Given the description of an element on the screen output the (x, y) to click on. 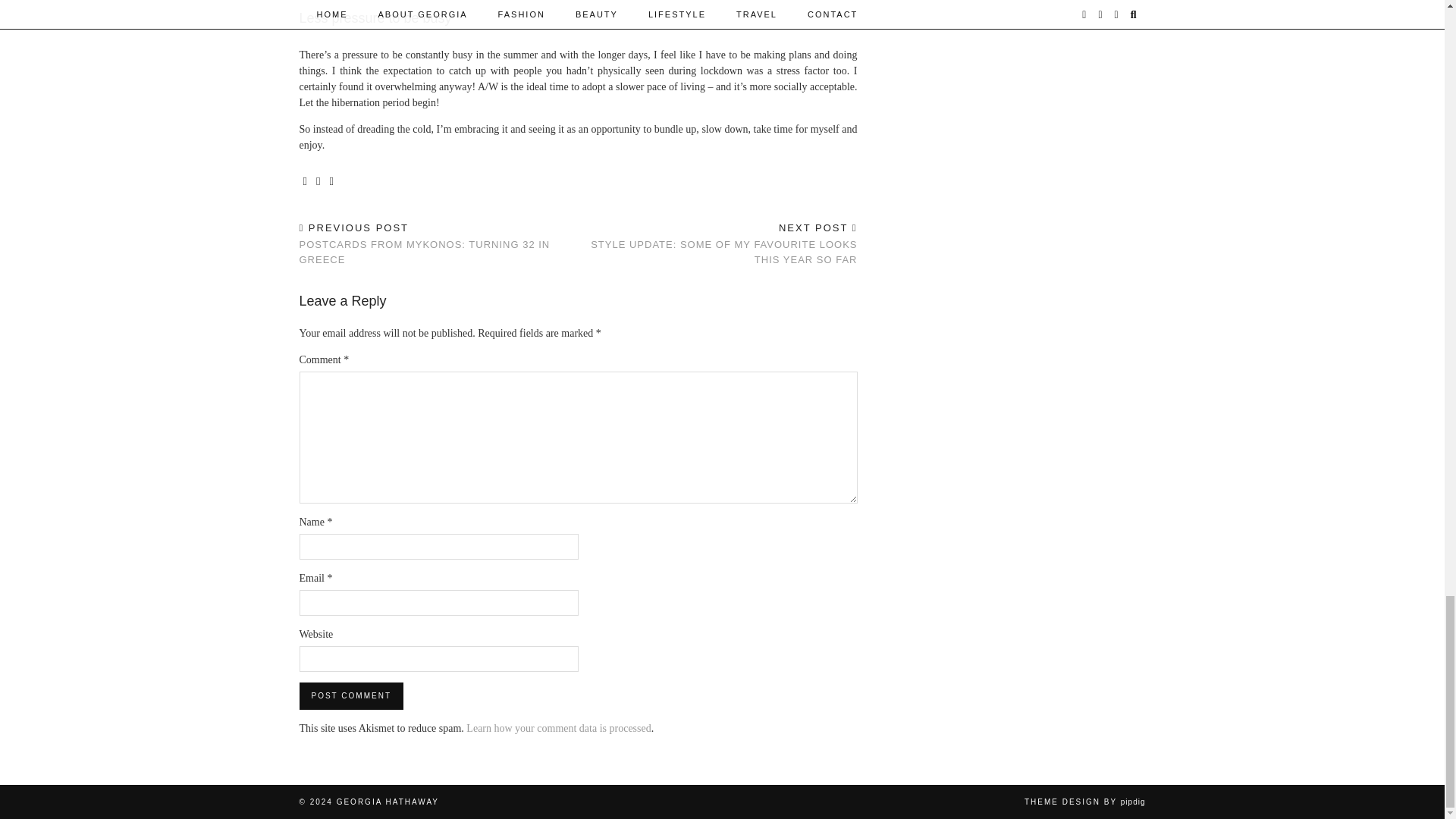
Share on Pinterest (330, 182)
Learn how your comment data is processed (557, 727)
Share on Facebook (304, 182)
Post Comment (350, 696)
Share on Twitter (318, 182)
Post Comment (350, 696)
